Given the description of an element on the screen output the (x, y) to click on. 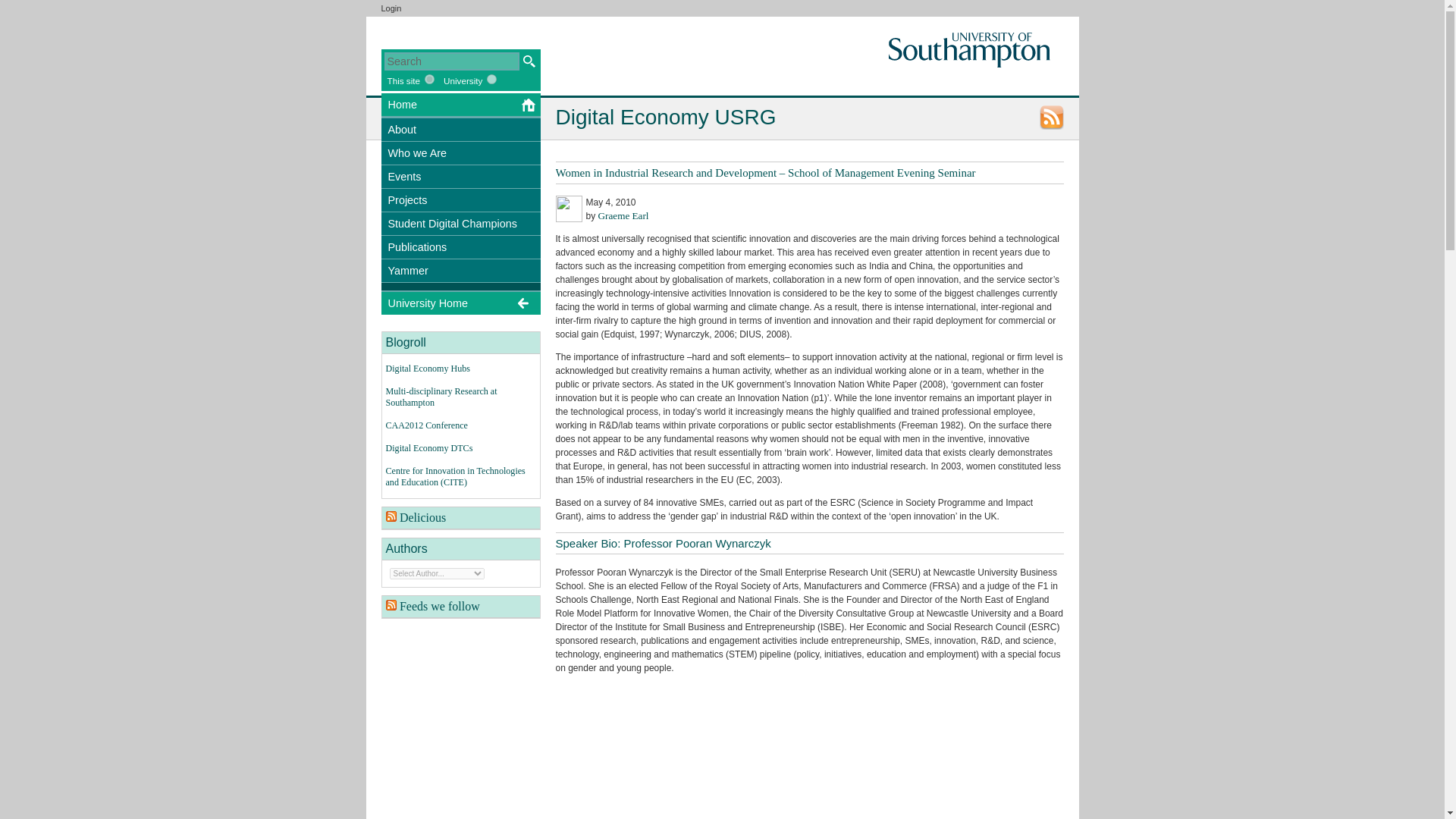
search from Digital Economy USRG (429, 79)
Student Digital Champions (460, 223)
Digital Economy Hubs (427, 368)
Search (451, 61)
Home (460, 104)
CAA2012 Conference (426, 425)
University Home (460, 302)
1 (429, 79)
Graeme Earl (623, 215)
Publications (460, 246)
Feeds we follow (439, 605)
search from Digital Economy USRG (403, 80)
Multi-disciplinary Research at Southampton (440, 396)
Events (460, 176)
search all University of Southampton sites (491, 79)
